Given the description of an element on the screen output the (x, y) to click on. 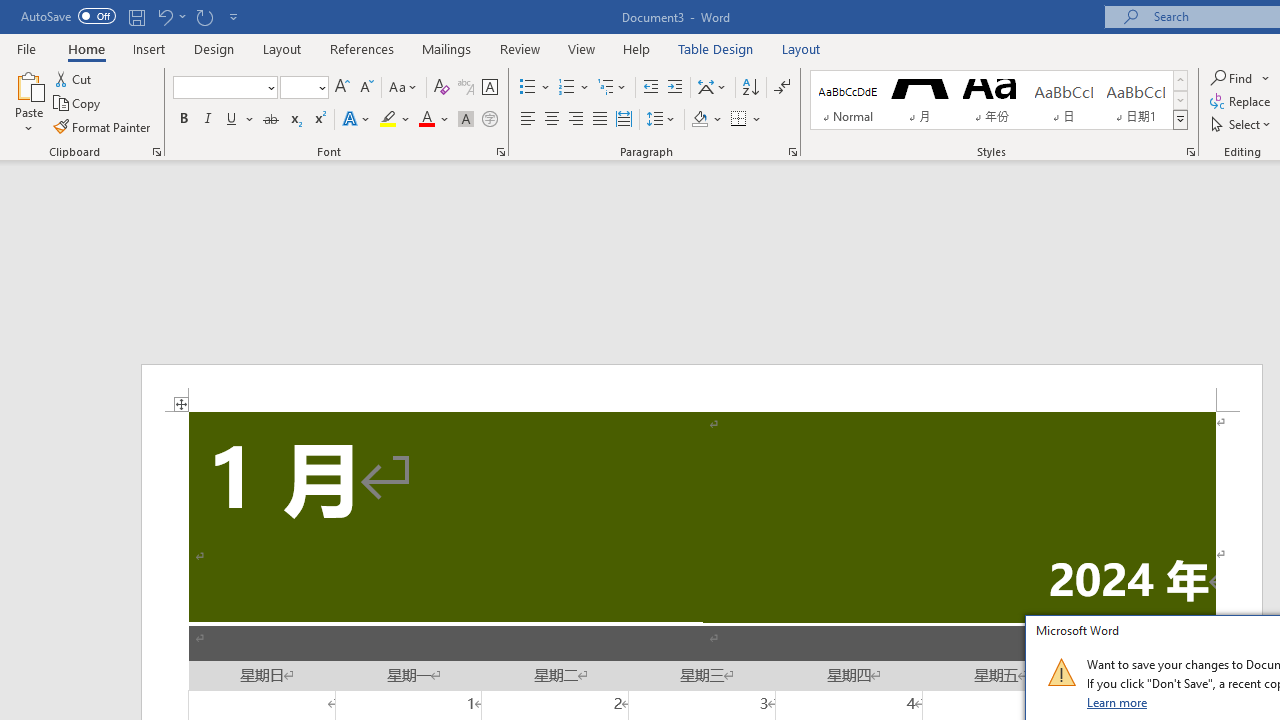
Distributed (623, 119)
Superscript (319, 119)
Asian Layout (712, 87)
Align Right (575, 119)
Repeat Style (204, 15)
AutomationID: QuickStylesGallery (999, 99)
